Given the description of an element on the screen output the (x, y) to click on. 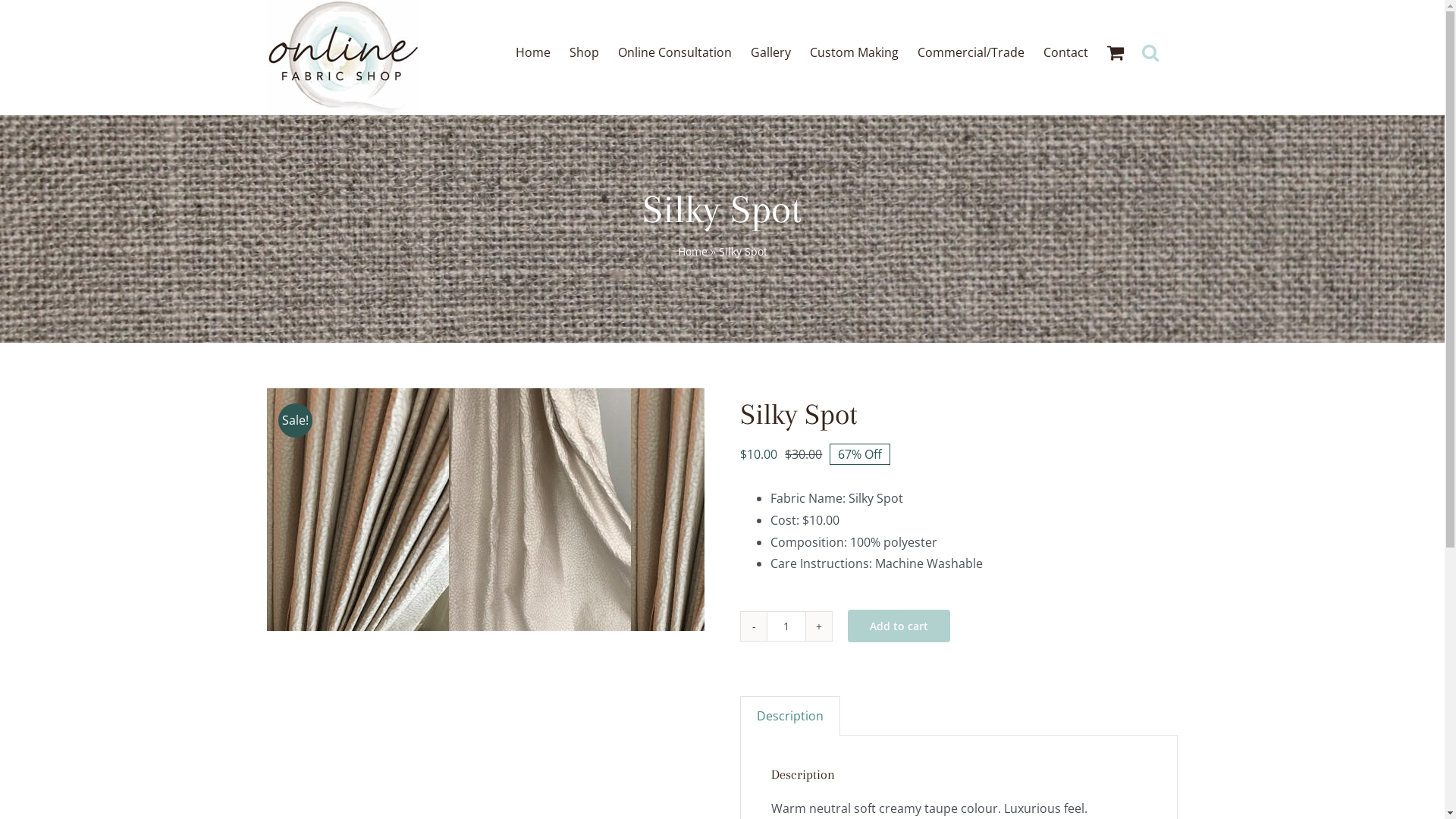
Description Element type: text (789, 715)
Home Element type: text (532, 50)
Custom Making Element type: text (853, 50)
Commercial/Trade Element type: text (970, 50)
Silky Spot Element type: hover (175, 509)
Gallery Element type: text (770, 50)
Search Element type: hover (1150, 50)
Online Consultation Element type: text (674, 50)
Home Element type: text (692, 251)
Contact Element type: text (1065, 50)
Silky Spot 2 Element type: hover (357, 509)
Silky Spot 2 Element type: hover (721, 509)
Silky Spot Element type: hover (539, 509)
Add to cart Element type: text (898, 625)
Shop Element type: text (583, 50)
